Given the description of an element on the screen output the (x, y) to click on. 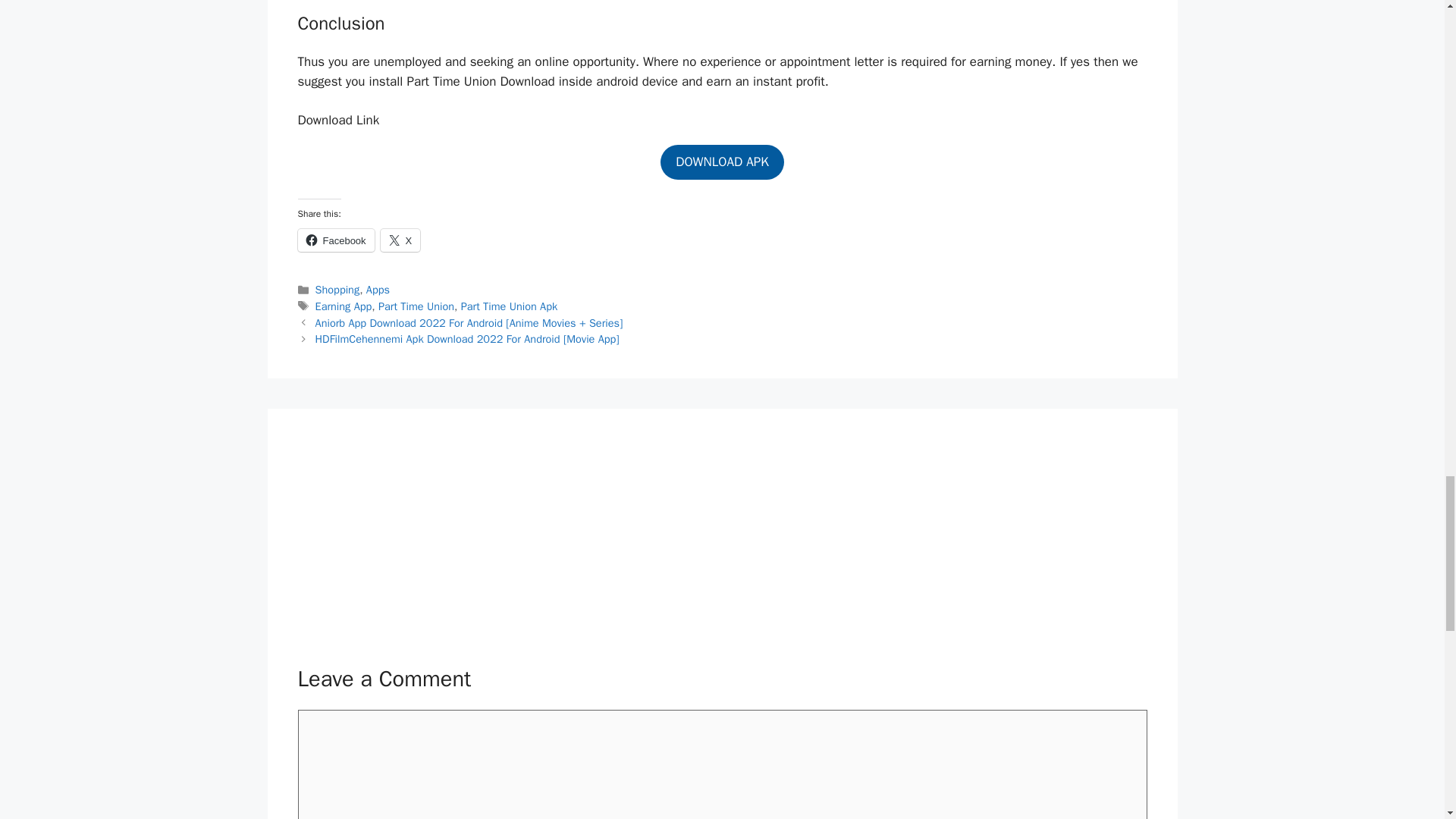
Part Time Union Apk (509, 305)
Shopping (337, 289)
Apps (378, 289)
Earning App (343, 305)
DOWNLOAD APK (722, 161)
X (400, 240)
Facebook (335, 240)
Part Time Union (416, 305)
